Given the description of an element on the screen output the (x, y) to click on. 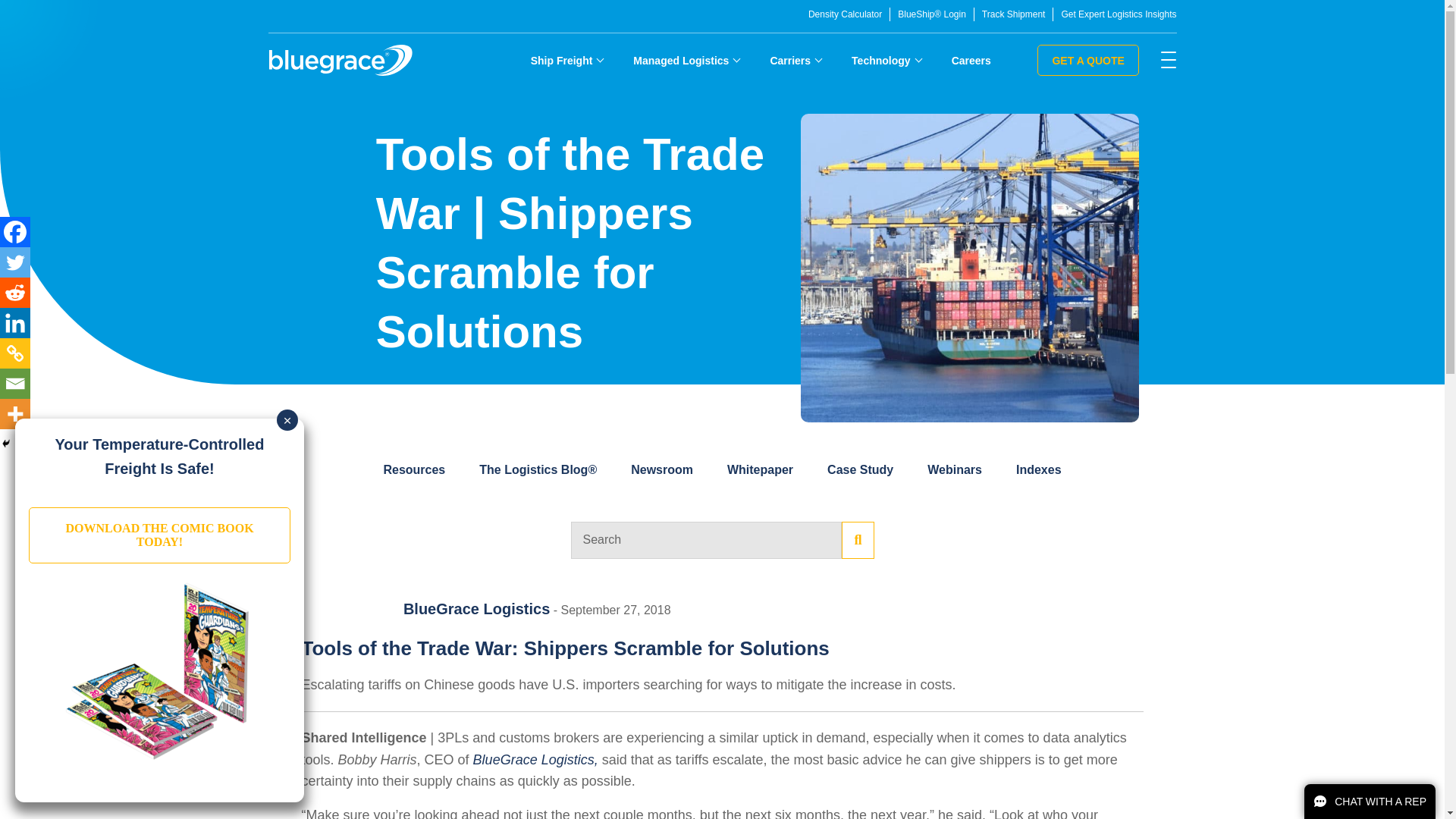
Track Shipment (1013, 14)
Ship Freight (567, 60)
Linkedin (15, 322)
More (15, 413)
Density Calculator (845, 14)
Carriers (795, 60)
Reddit (15, 292)
Email (15, 383)
Bluegrace Logistics (339, 60)
Twitter (15, 262)
Managed Logistics (686, 60)
comicBook-Mockup-pages-guardians (159, 670)
Copy Link (15, 353)
Get Expert Logistics Insights (1118, 14)
Facebook (15, 232)
